Given the description of an element on the screen output the (x, y) to click on. 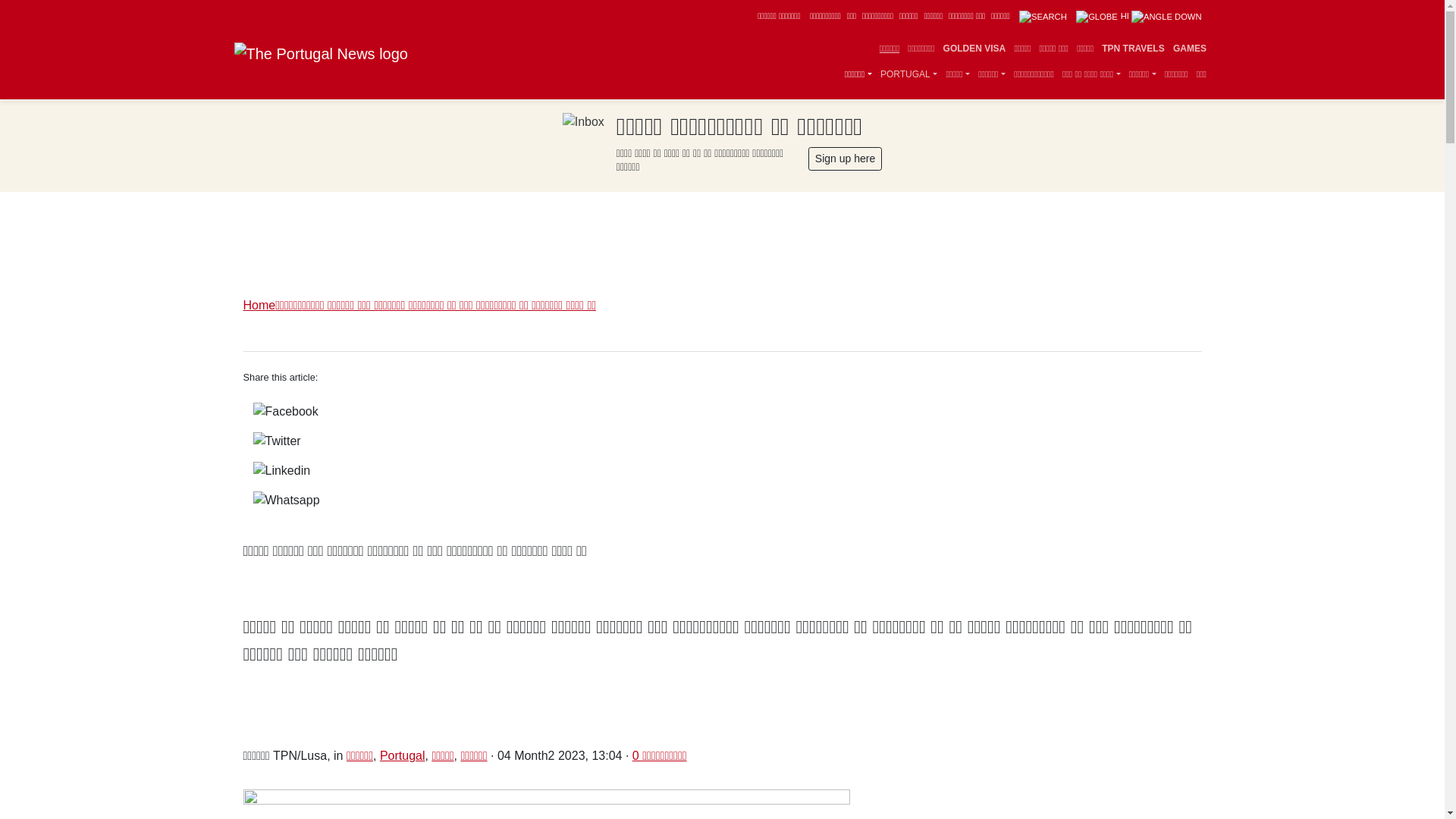
GOLDEN VISA (974, 48)
PORTUGAL (909, 73)
HI (1138, 15)
TPN TRAVELS (1133, 48)
GAMES (1189, 48)
